Given the description of an element on the screen output the (x, y) to click on. 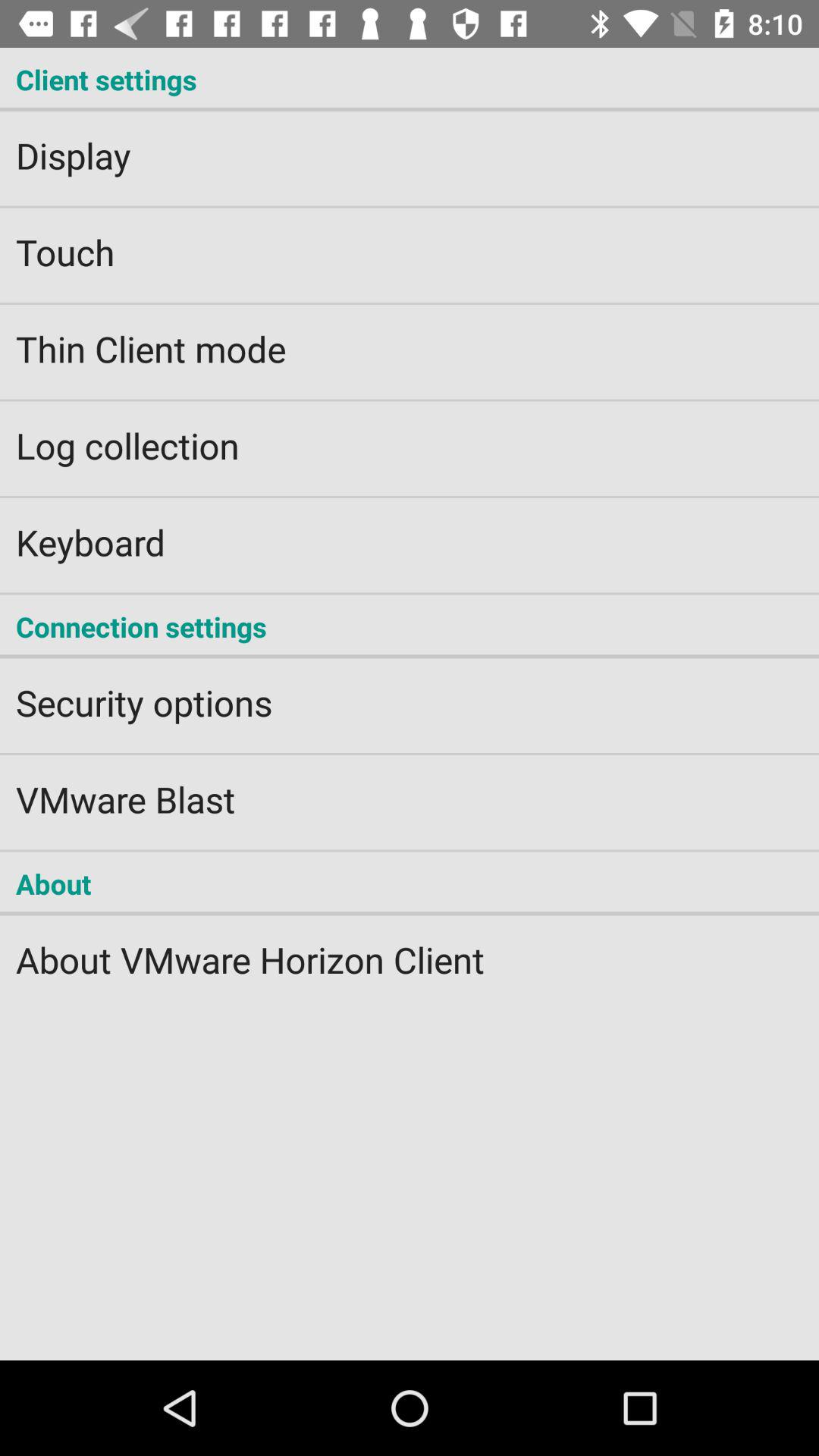
turn on icon below the client settings item (409, 145)
